Given the description of an element on the screen output the (x, y) to click on. 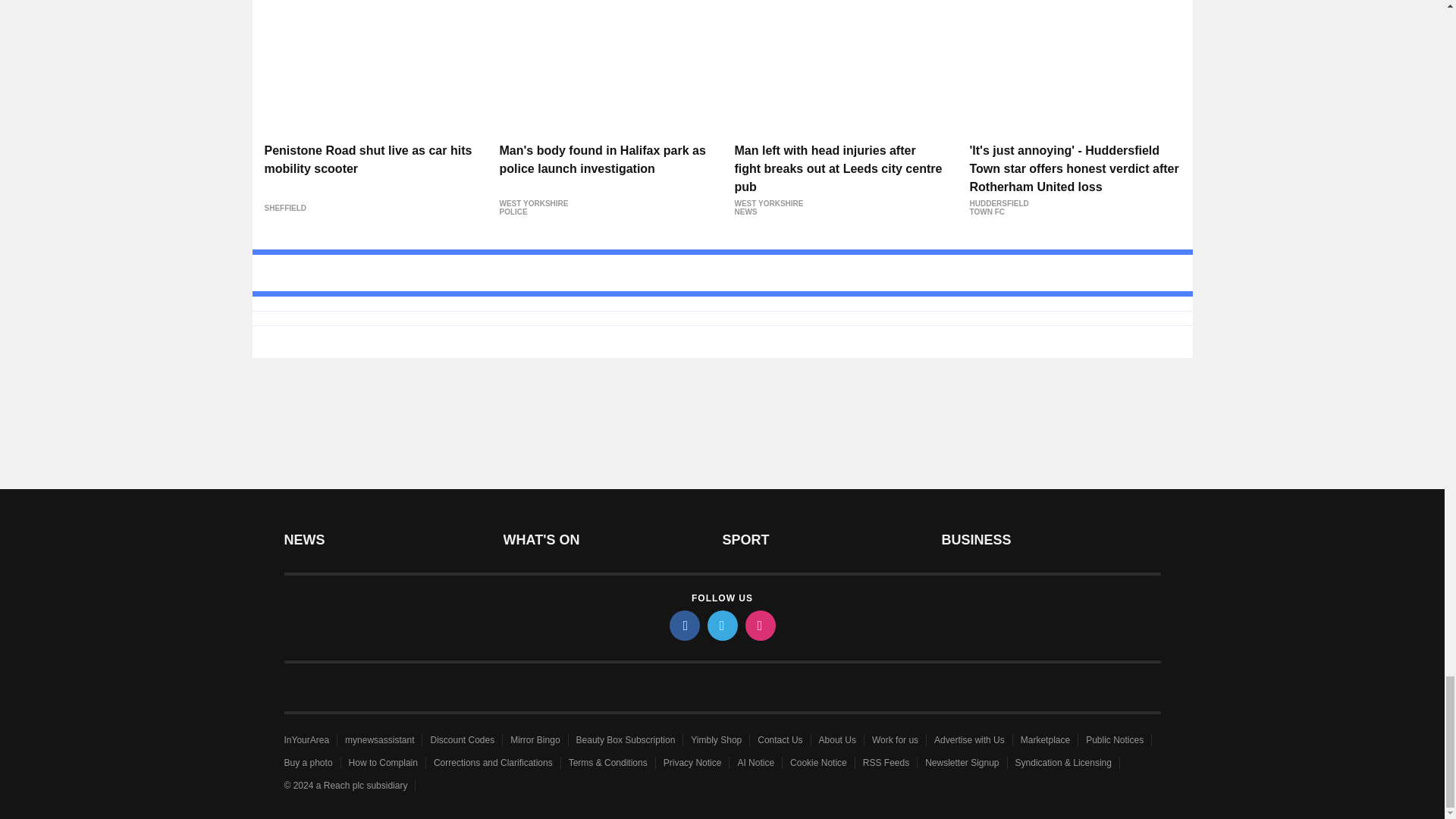
instagram (759, 625)
facebook (683, 625)
twitter (721, 625)
